Given the description of an element on the screen output the (x, y) to click on. 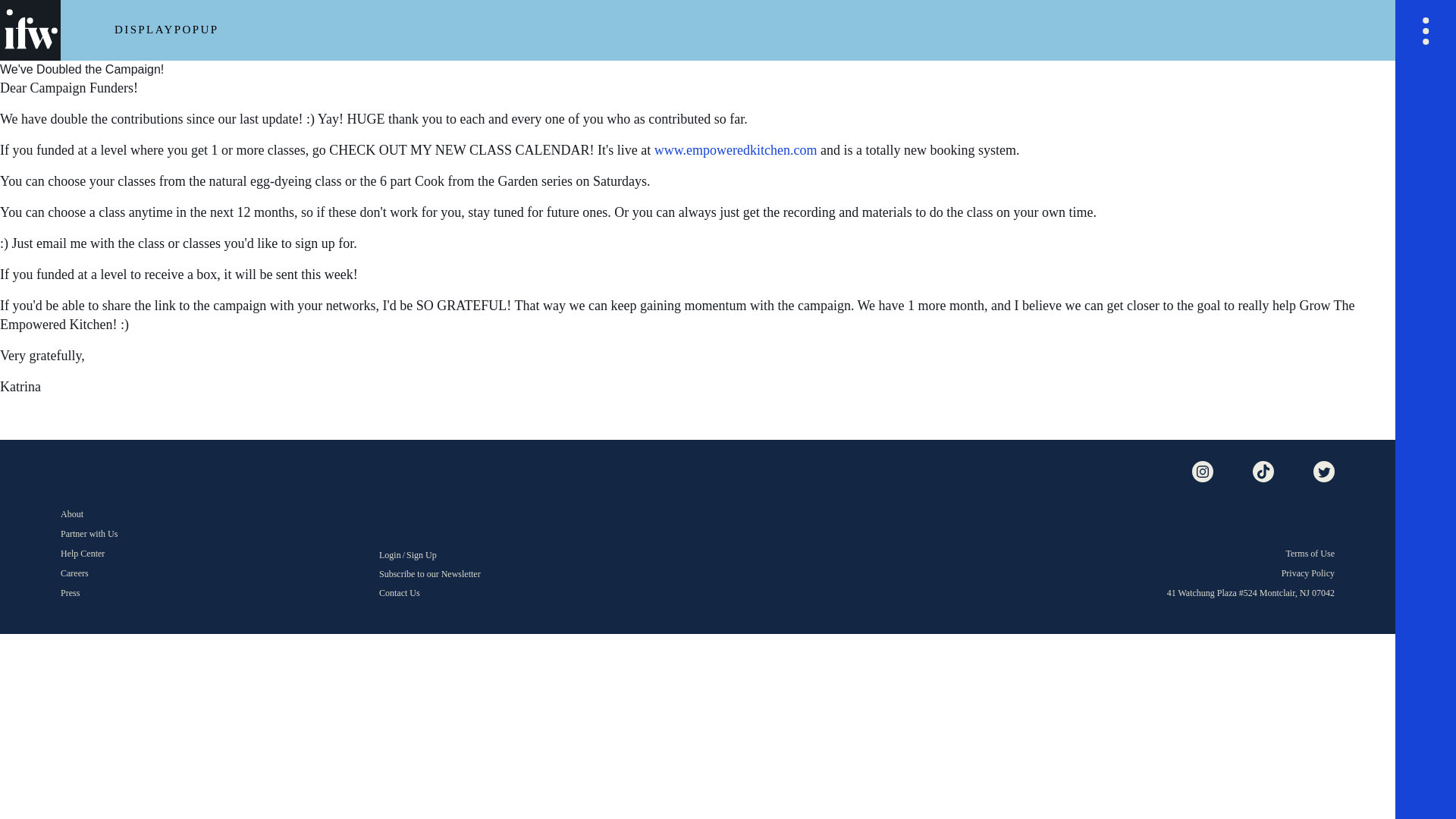
DISPLAYPOPUP (166, 29)
IFundWomen (117, 471)
